Given the description of an element on the screen output the (x, y) to click on. 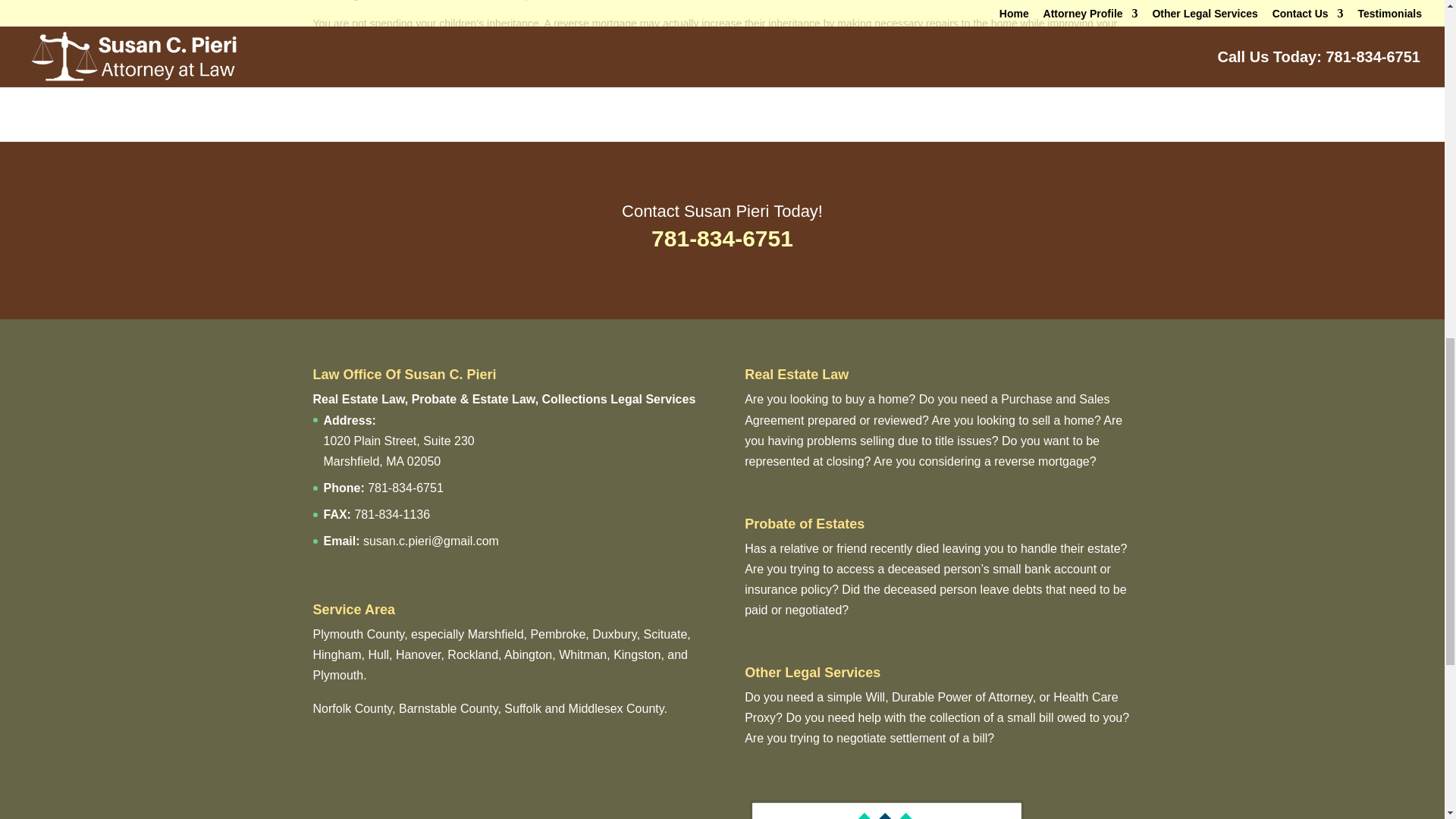
781-834-6751 (721, 238)
